Given the description of an element on the screen output the (x, y) to click on. 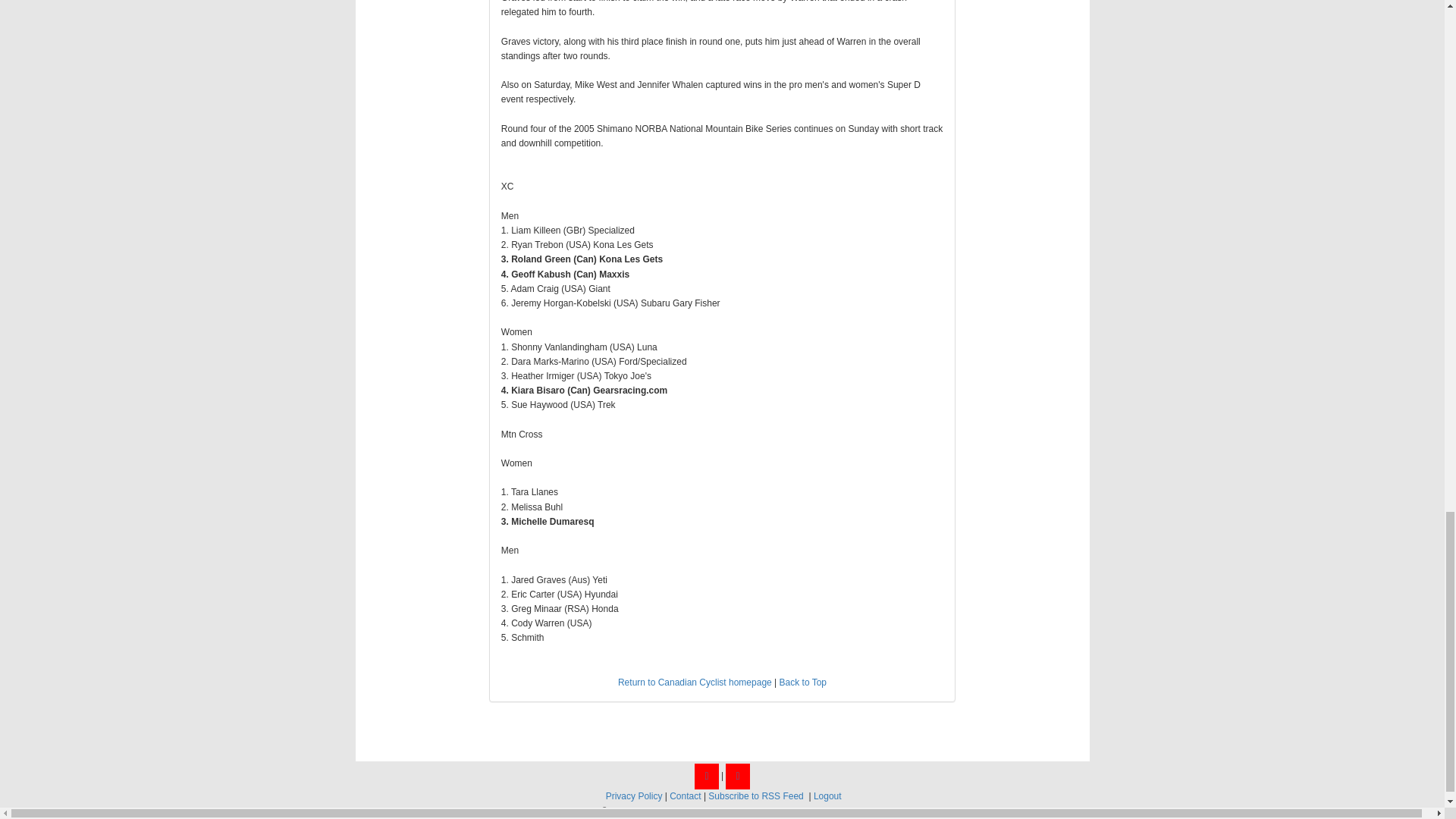
Privacy Policy (633, 796)
Back to Top (802, 682)
Contact (684, 796)
Logout (827, 796)
Return to Canadian Cyclist homepage (694, 682)
Subscribe to RSS Feed (755, 796)
